Given the description of an element on the screen output the (x, y) to click on. 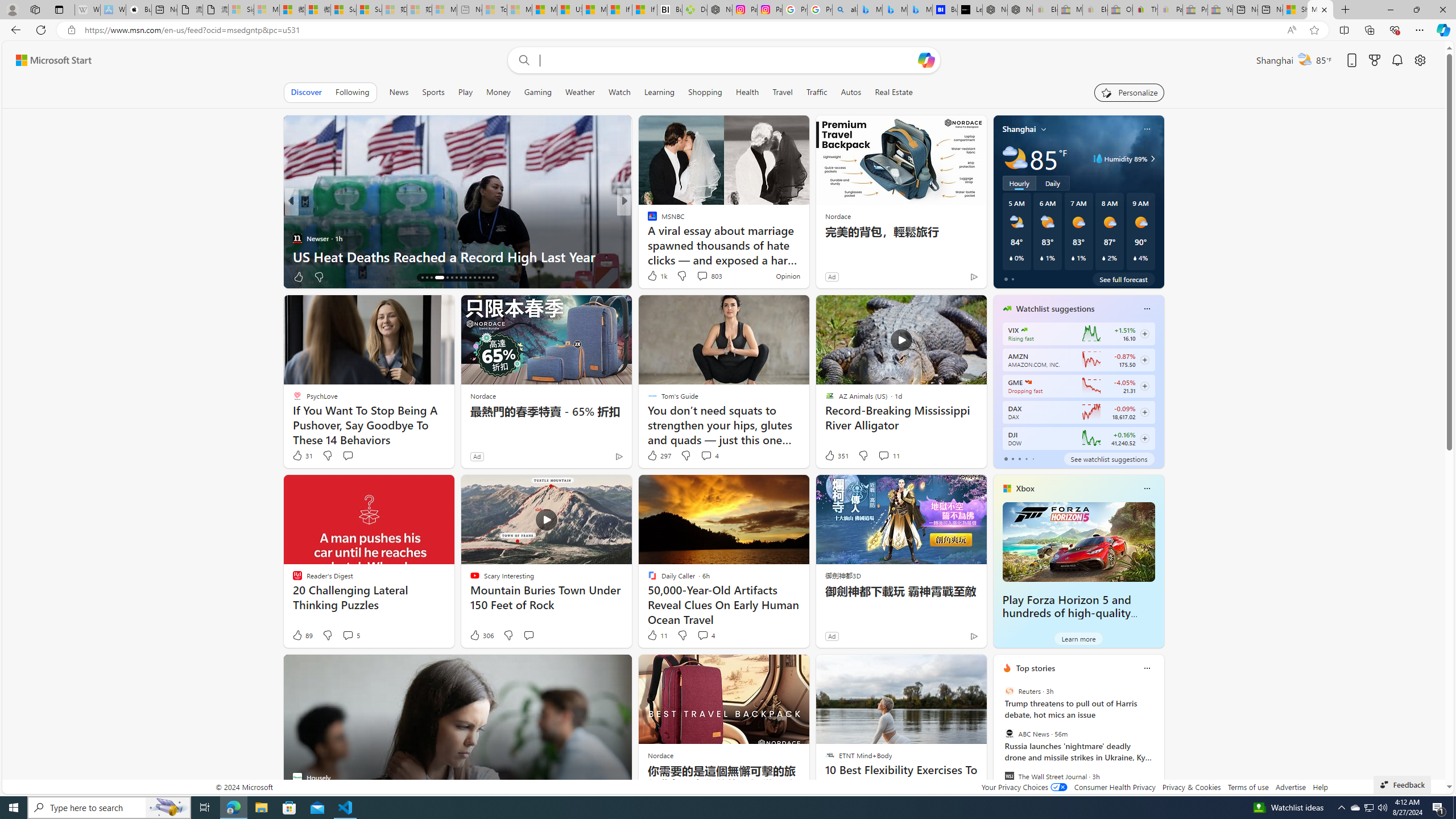
306 Like (480, 634)
tab-4 (1032, 458)
A Conscious Rethink (647, 238)
Partly cloudy (1014, 158)
